Given the description of an element on the screen output the (x, y) to click on. 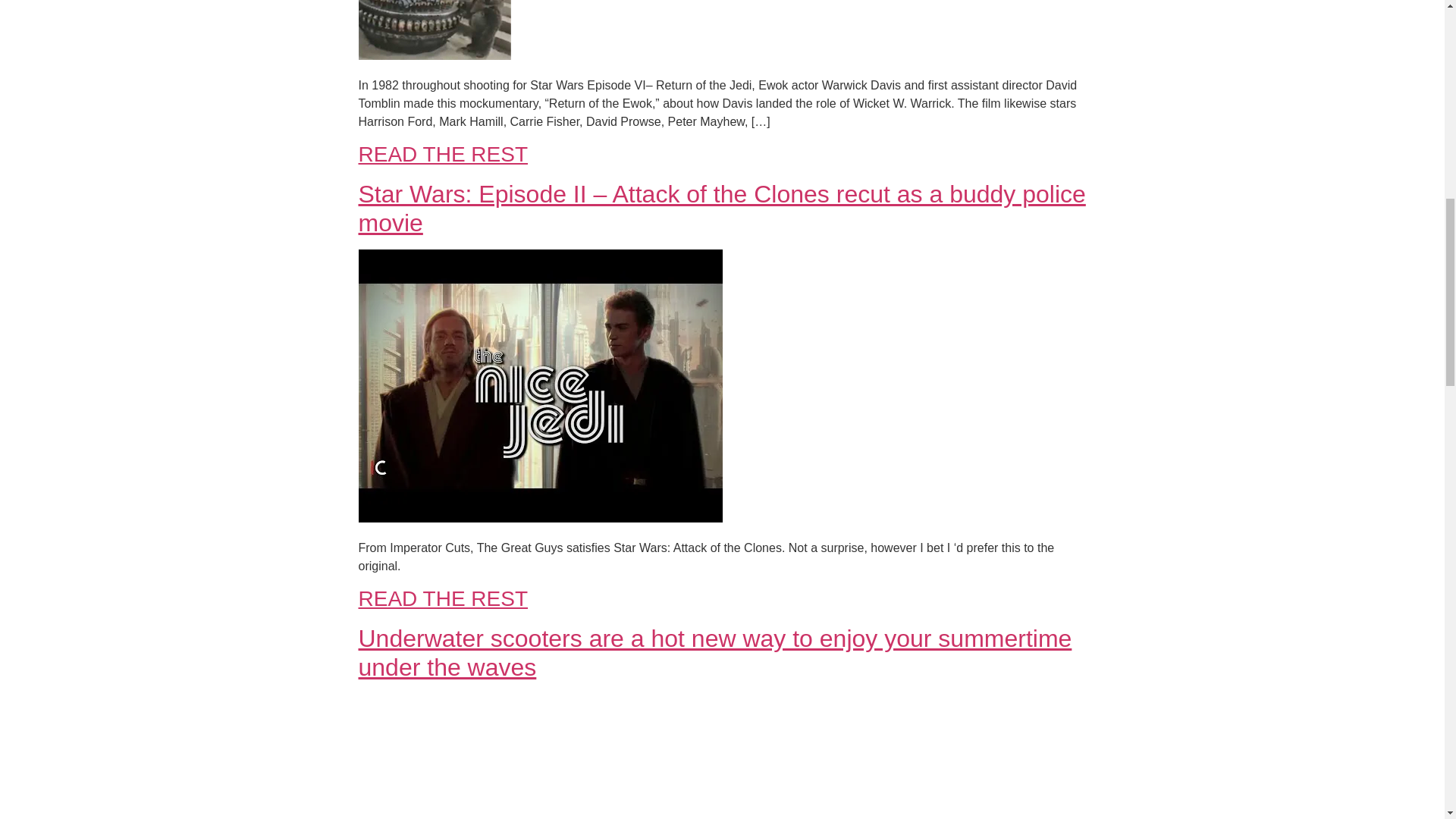
READ THE REST (442, 154)
READ THE REST (442, 598)
